Given the description of an element on the screen output the (x, y) to click on. 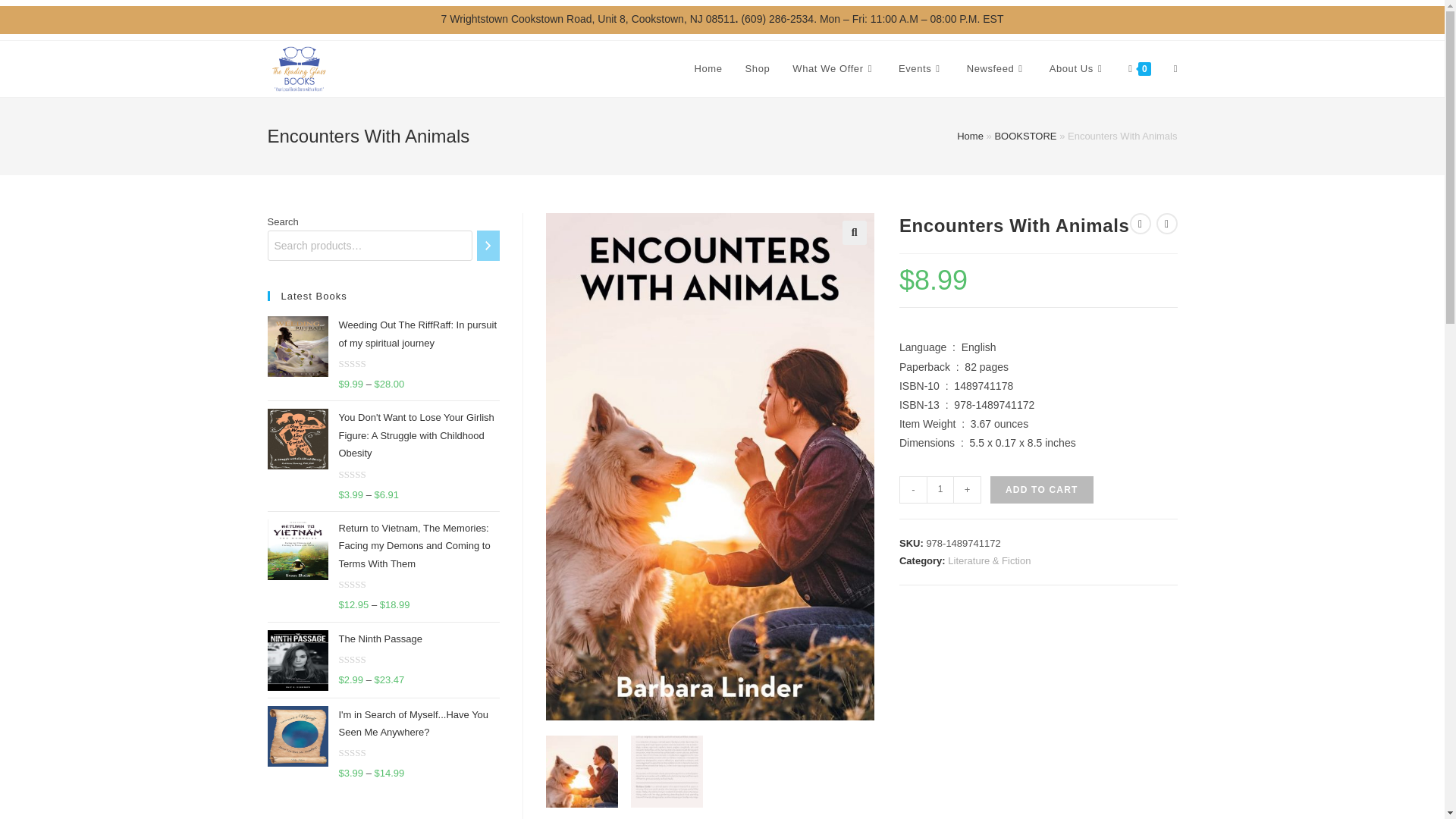
1 (939, 489)
Newsfeed (996, 68)
Events (920, 68)
About Us (1078, 68)
Home (707, 68)
What We Offer (833, 68)
Qty (939, 489)
